Given the description of an element on the screen output the (x, y) to click on. 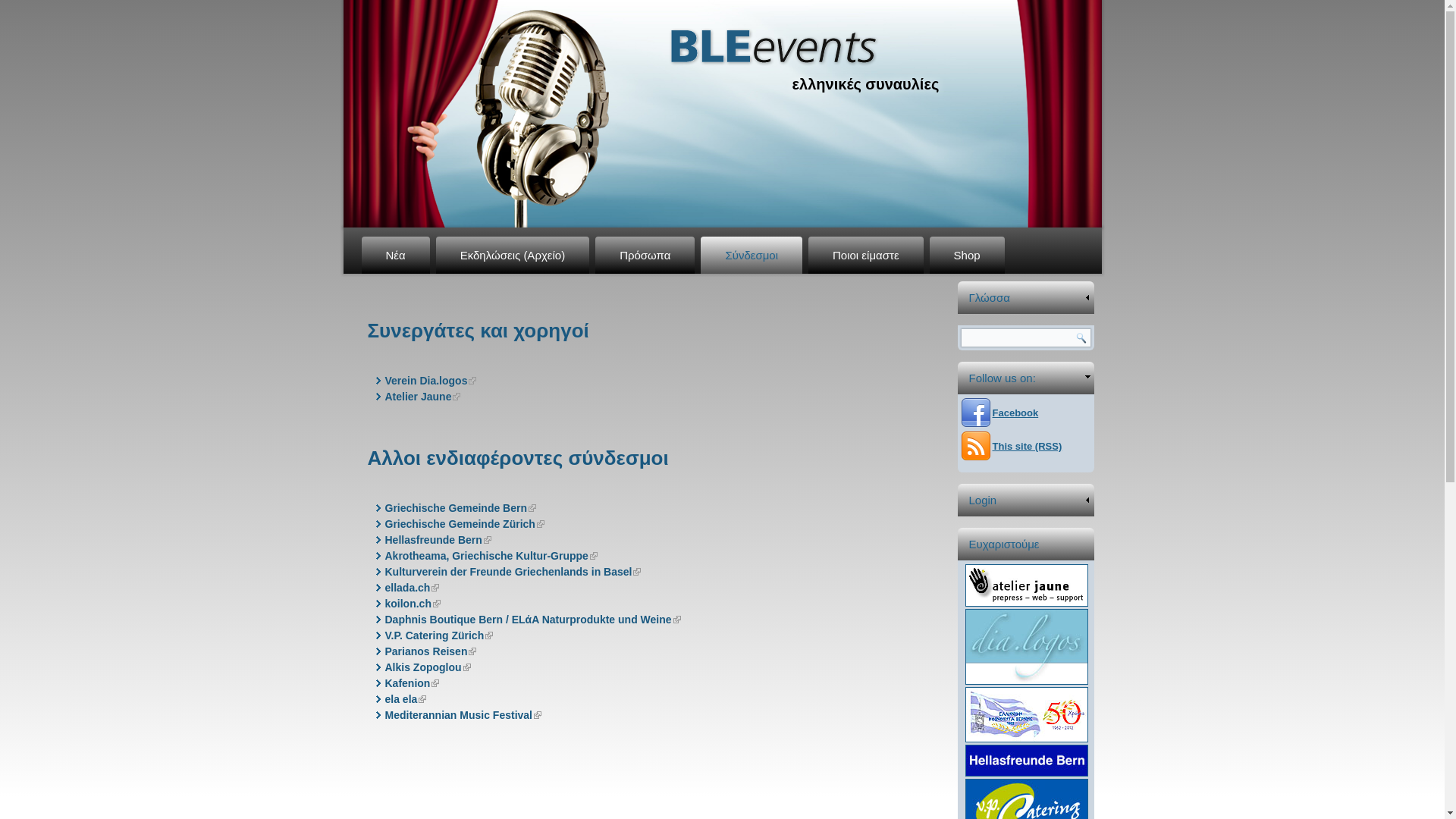
Akrotheama, Griechische Kultur-Gruppe
(link is external) Element type: text (491, 555)
koilon.ch
(link is external) Element type: text (412, 603)
Parianos Reisen
(link is external) Element type: text (430, 651)
Facebook Element type: text (1001, 414)
Mediterannian Music Festival
(link is external) Element type: text (463, 715)
Kafenion
(link is external) Element type: text (412, 683)
Login Element type: text (1025, 499)
Griechische Gemeinde Bern
(link is external) Element type: text (460, 508)
Verein Dia.logos
(link is external) Element type: text (430, 380)
Hellasfreunde Bern
(link is external) Element type: text (438, 539)
Shop Element type: text (966, 254)
This site (RSS) Element type: text (1013, 447)
ela ela
(link is external) Element type: text (405, 699)
Follow us on: Element type: text (1025, 377)
Alkis Zopoglou
(link is external) Element type: text (427, 667)
ellada.ch
(link is external) Element type: text (412, 587)
Atelier Jaune
(link is external) Element type: text (423, 396)
